Given the description of an element on the screen output the (x, y) to click on. 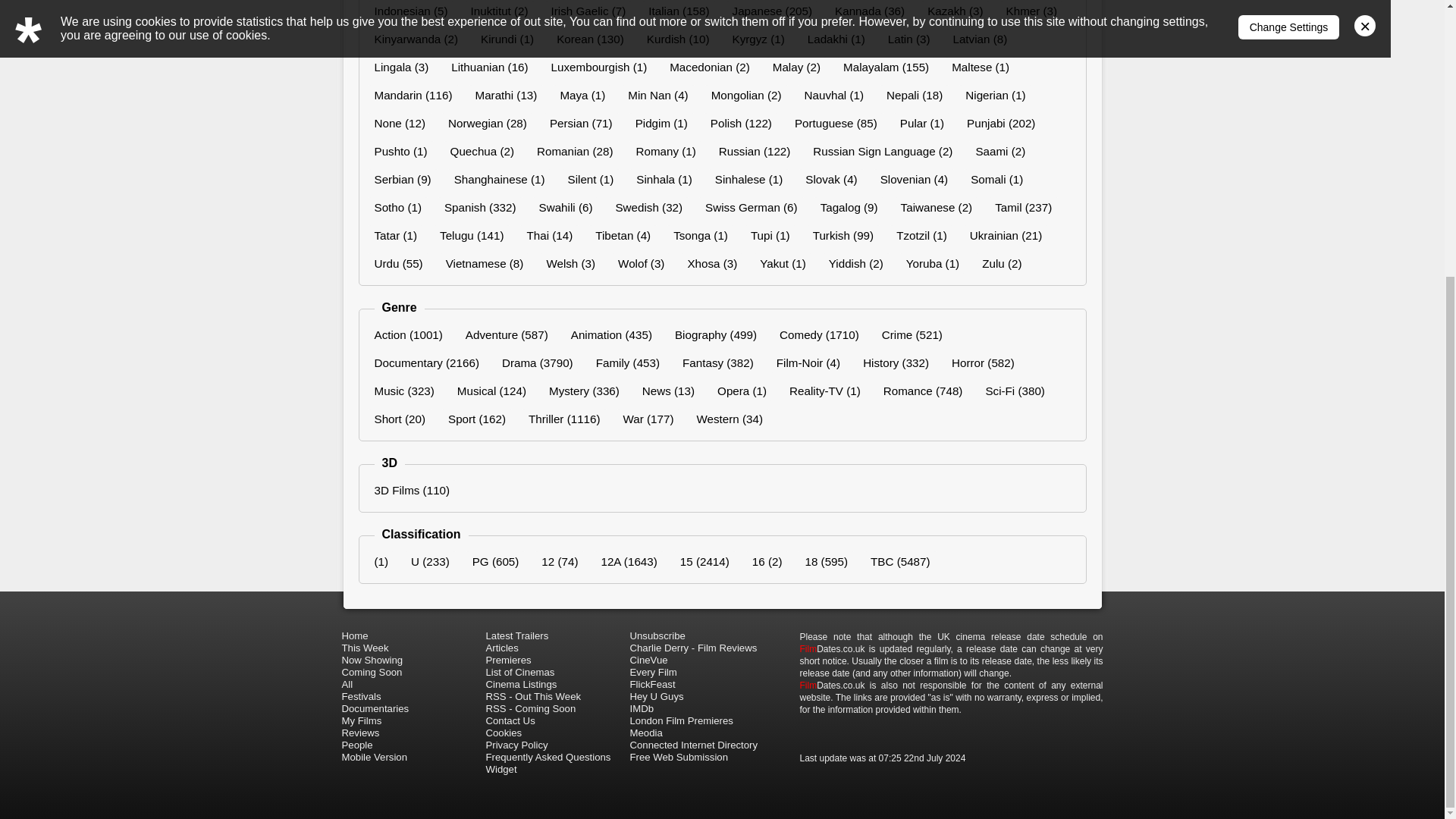
Coming soon! (412, 721)
